Given the description of an element on the screen output the (x, y) to click on. 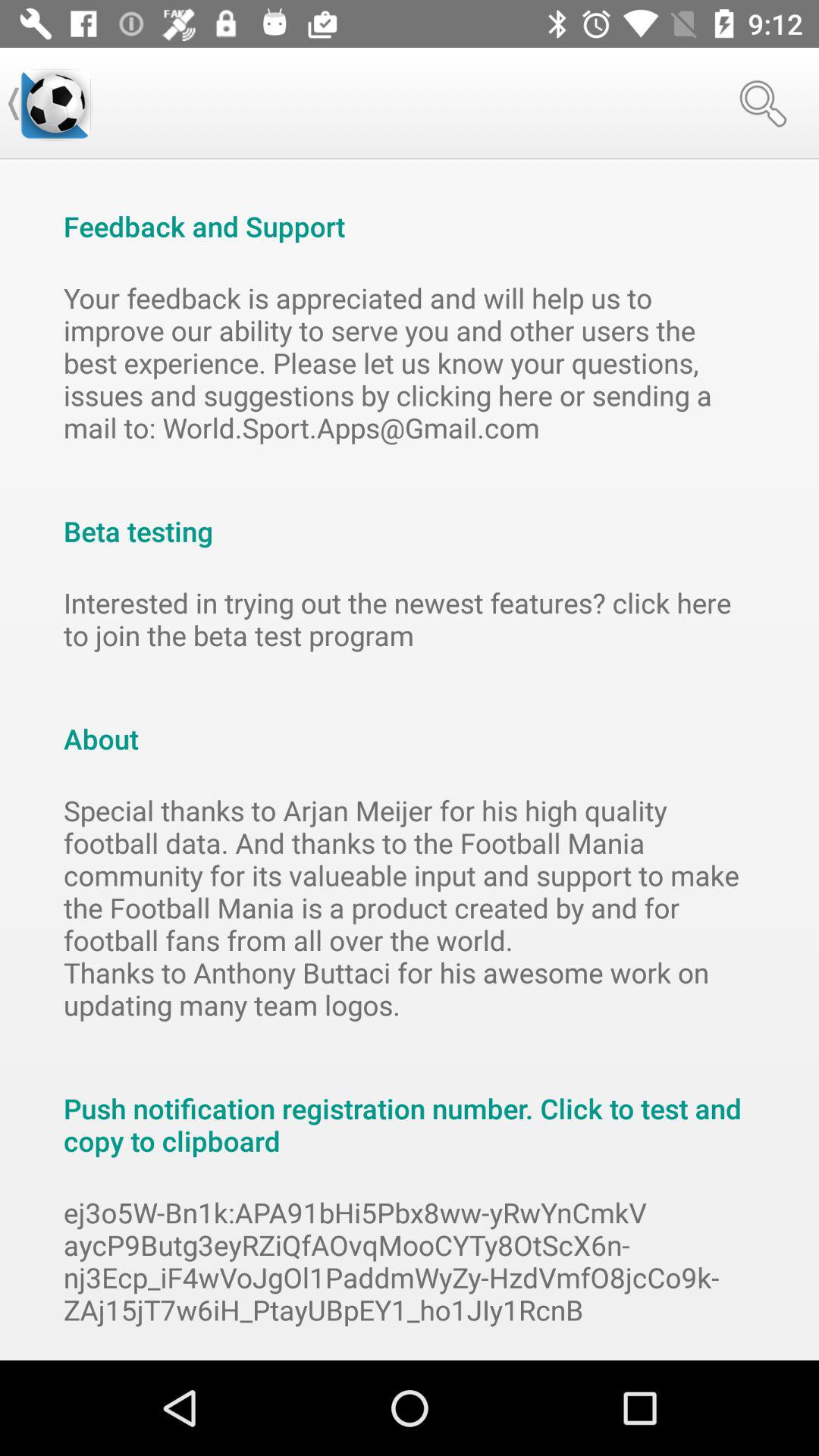
launch interested in trying (409, 619)
